Given the description of an element on the screen output the (x, y) to click on. 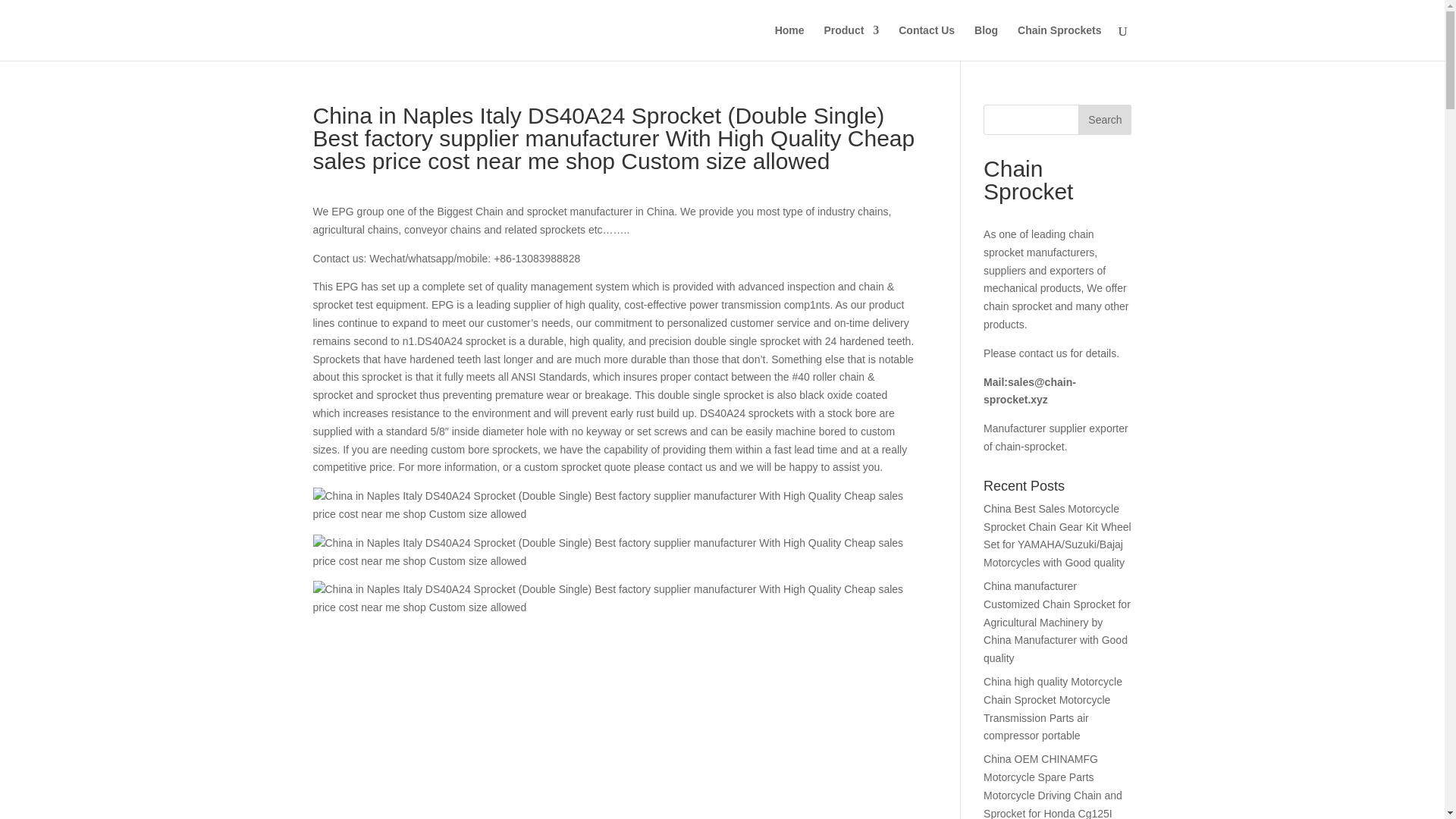
Chain Sprockets (1058, 42)
Product (851, 42)
Search (1104, 119)
Search (1104, 119)
Contact Us (926, 42)
